Given the description of an element on the screen output the (x, y) to click on. 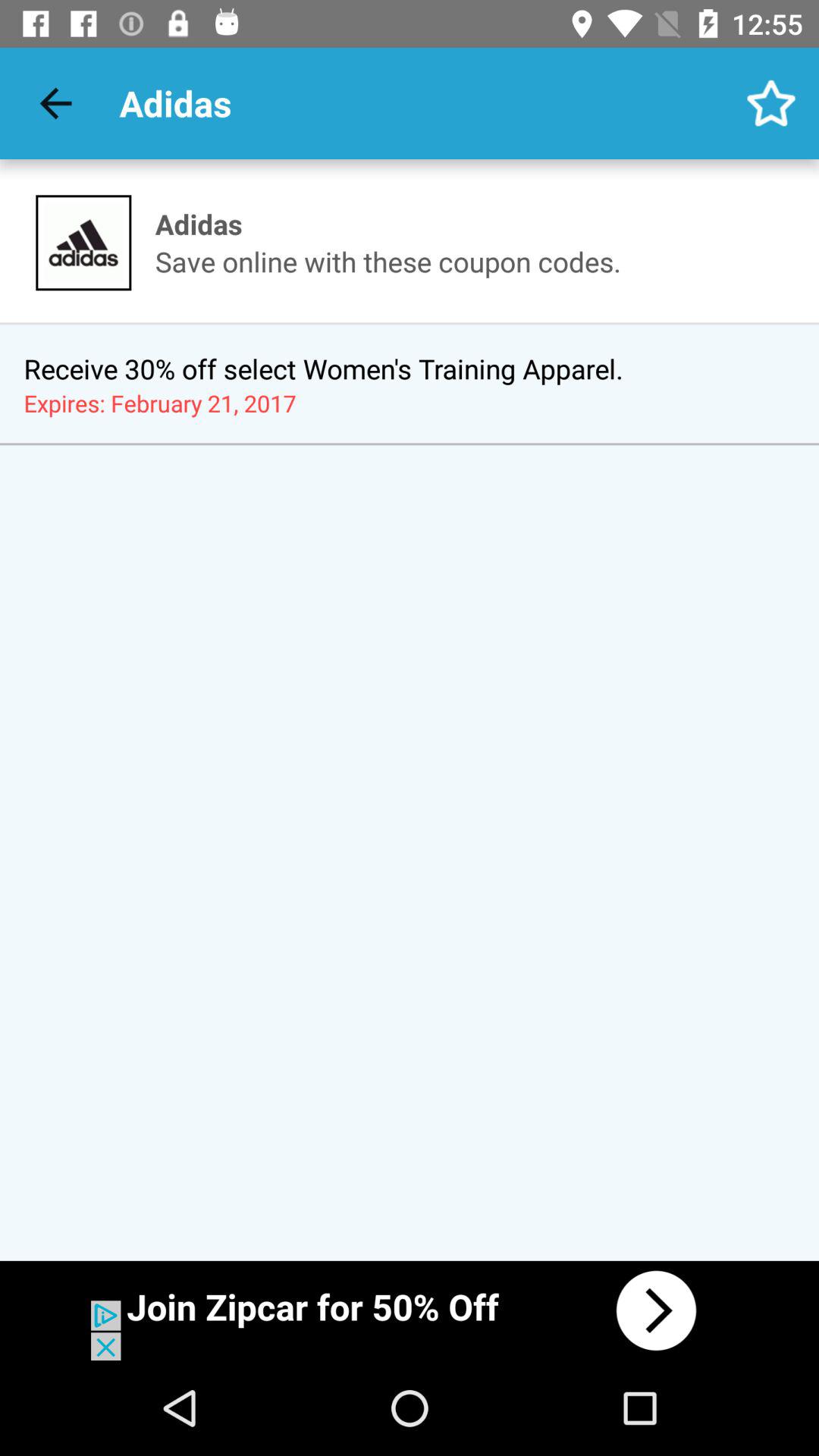
go to link in advertisement (409, 1310)
